Given the description of an element on the screen output the (x, y) to click on. 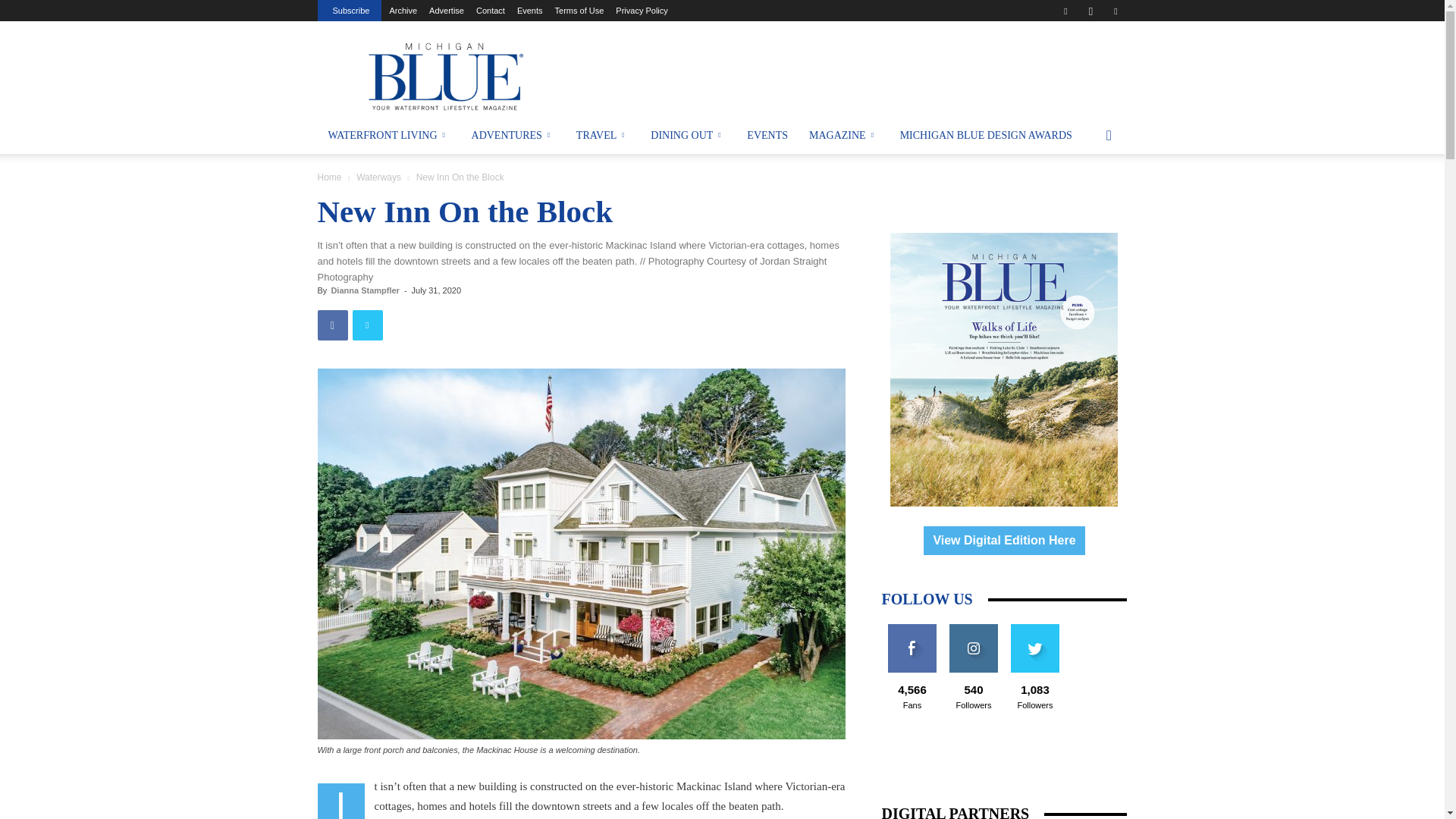
Facebook (1065, 10)
View all posts in Waterways (378, 176)
Posts by Dianna Stampfler (364, 289)
Twitter (1114, 10)
Instagram (1090, 10)
